Given the description of an element on the screen output the (x, y) to click on. 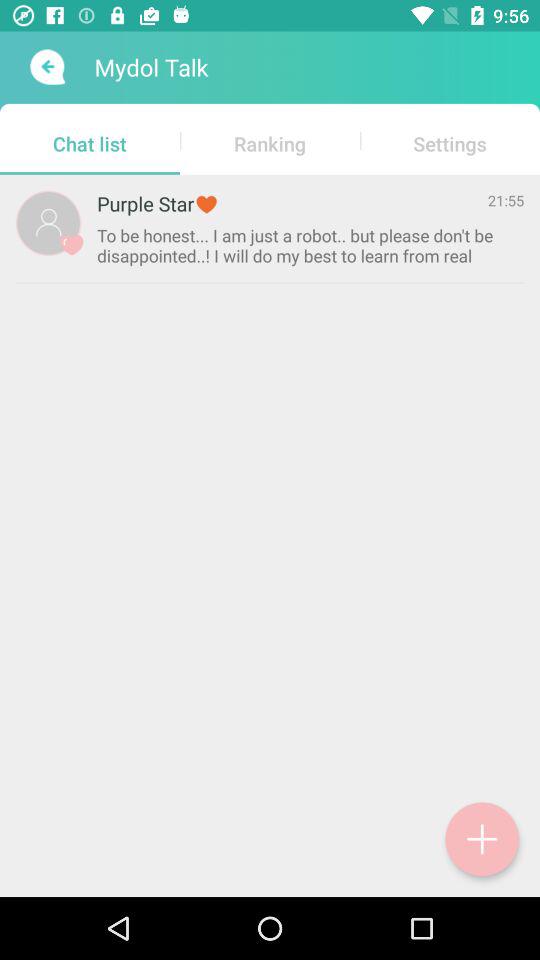
select icon next to mydol talk item (45, 67)
